Given the description of an element on the screen output the (x, y) to click on. 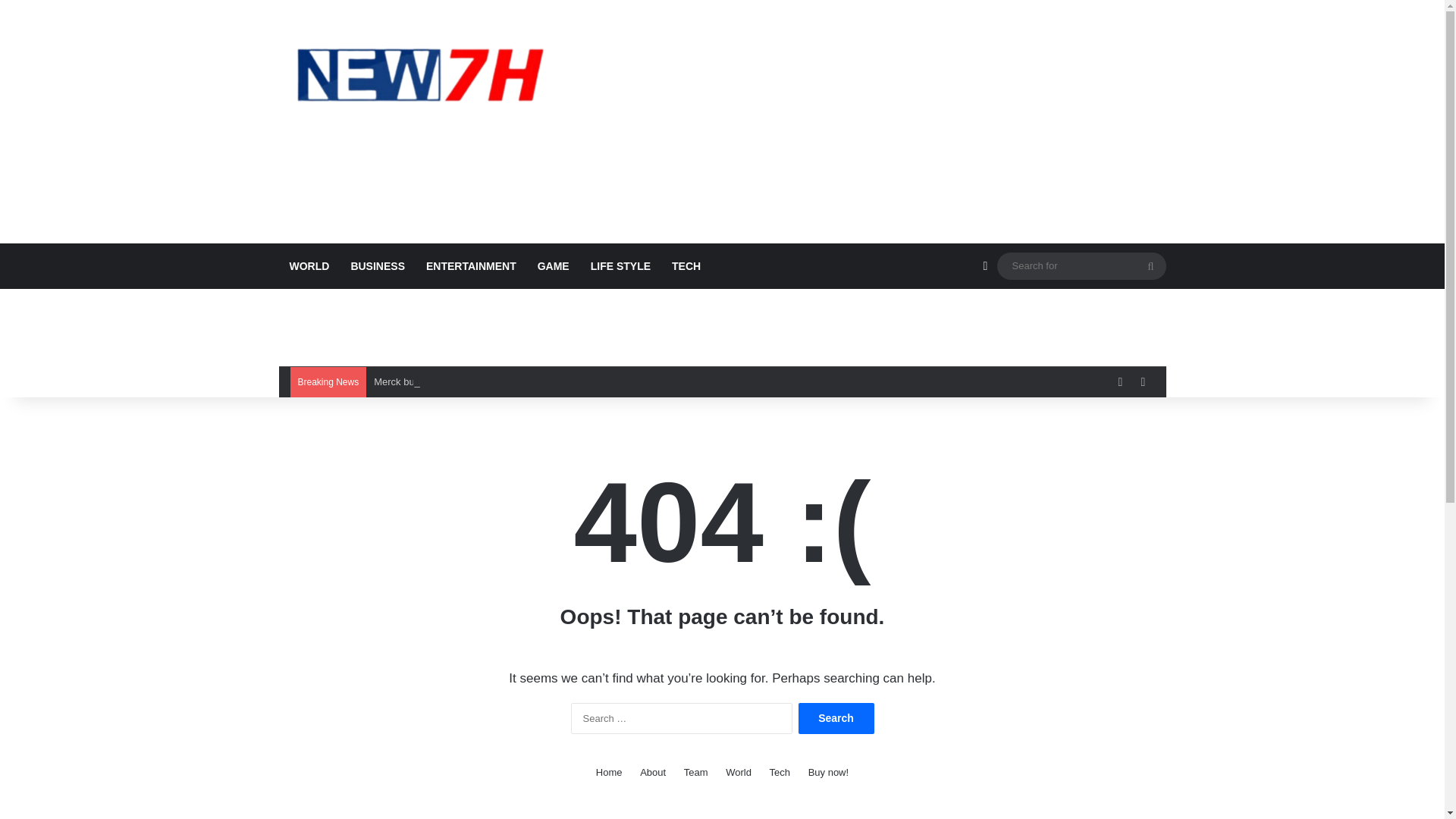
TECH (686, 266)
WORLD (309, 266)
About (652, 772)
ENTERTAINMENT (470, 266)
Home (609, 772)
Team (695, 772)
Tech (780, 772)
GAME (553, 266)
News7h (419, 73)
BUSINESS (376, 266)
